Given the description of an element on the screen output the (x, y) to click on. 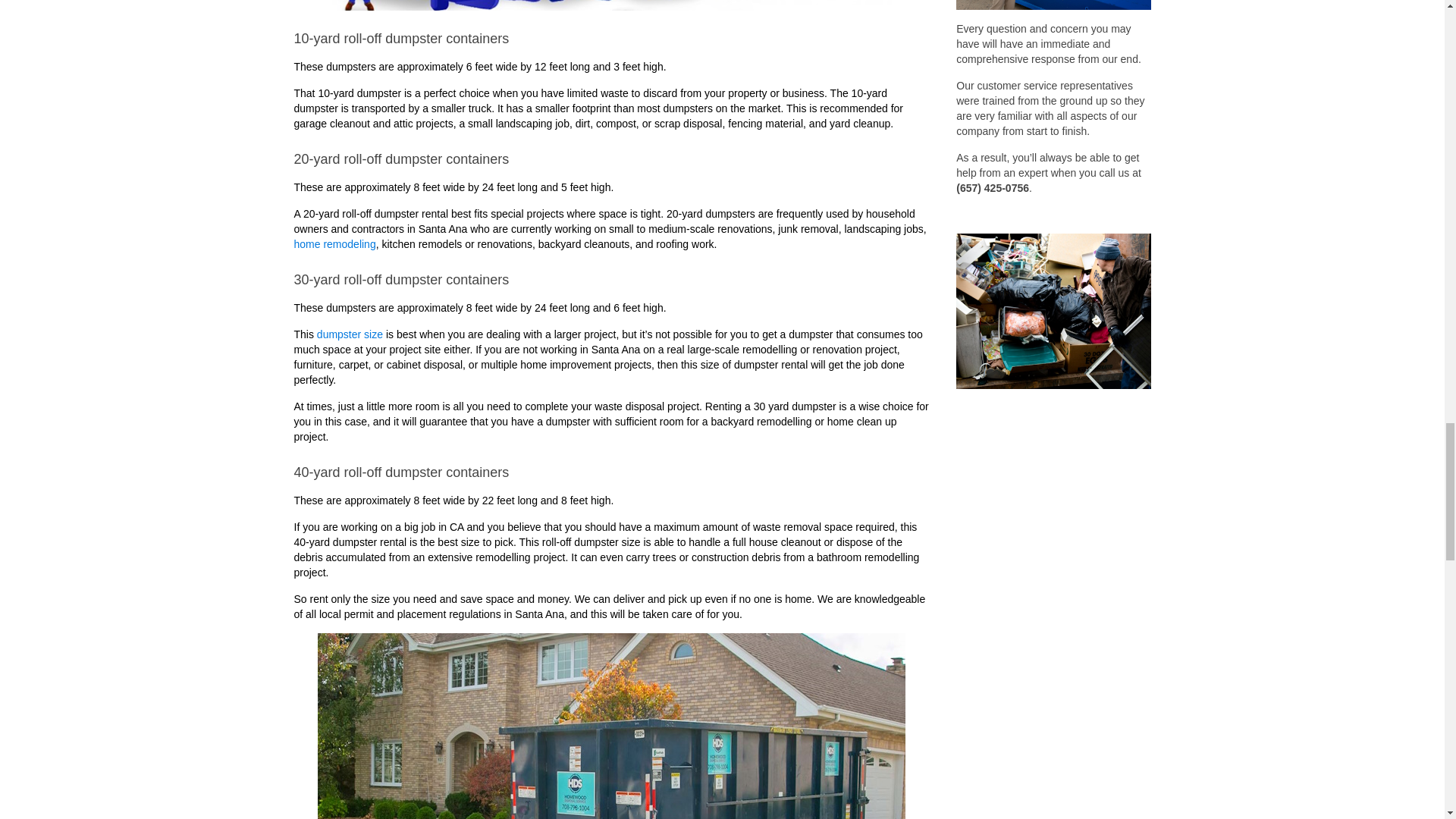
home remodeling (334, 244)
dumpster size (349, 334)
